Given the description of an element on the screen output the (x, y) to click on. 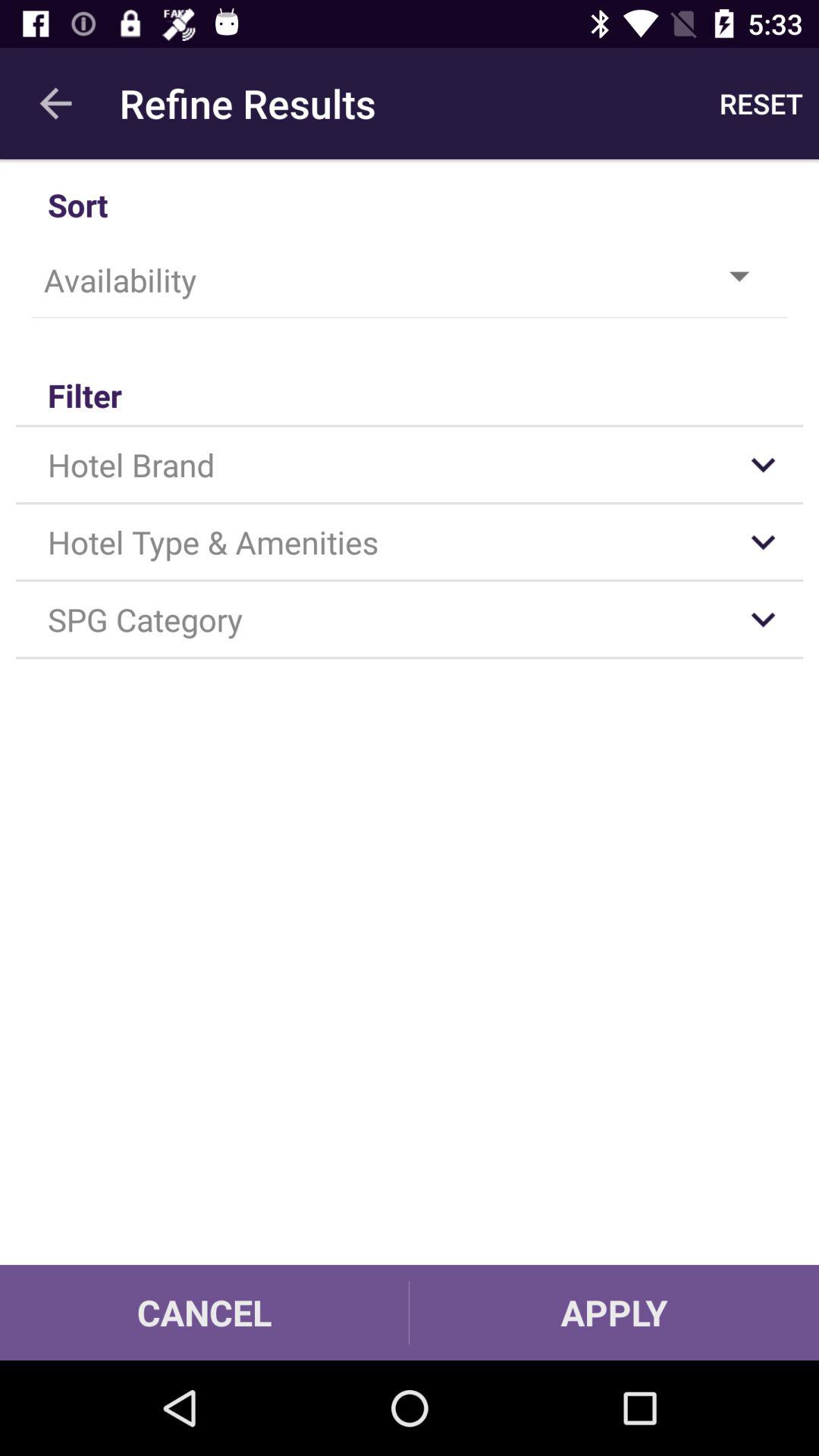
jump until the cancel item (204, 1312)
